Given the description of an element on the screen output the (x, y) to click on. 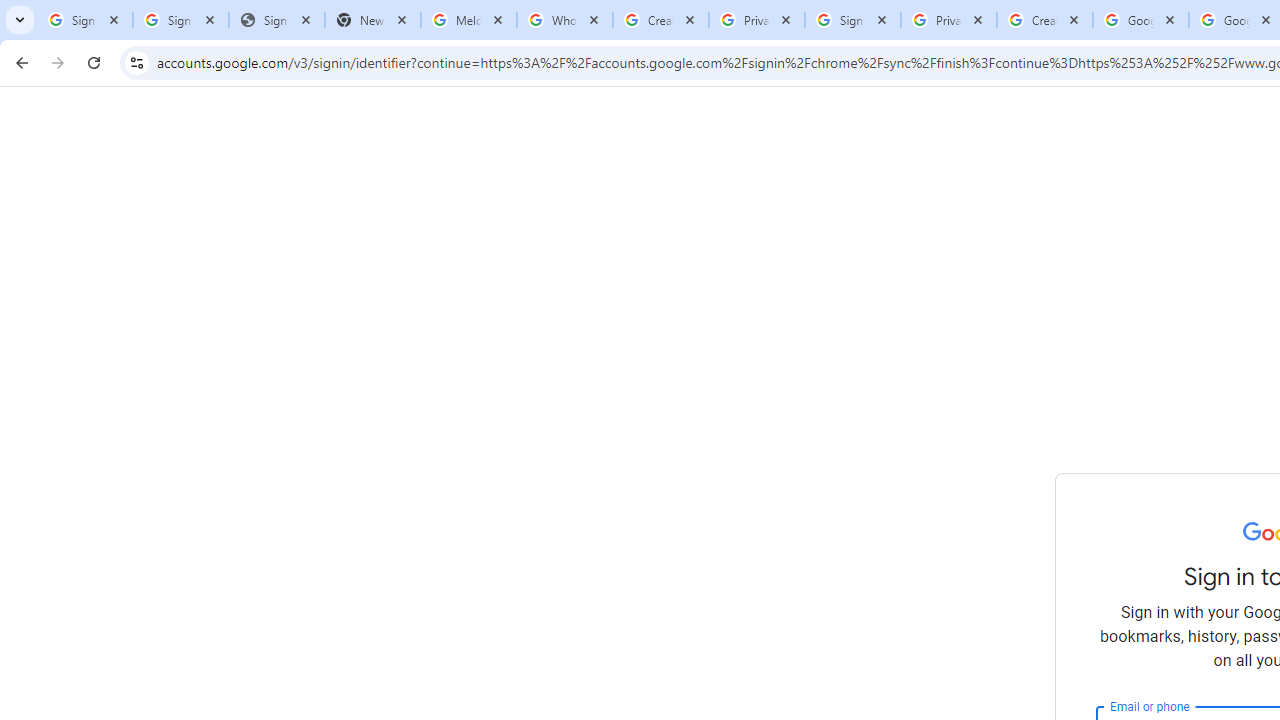
Create your Google Account (661, 20)
Create your Google Account (1045, 20)
New Tab (373, 20)
Sign in - Google Accounts (85, 20)
Sign in - Google Accounts (853, 20)
Who is my administrator? - Google Account Help (565, 20)
